Given the description of an element on the screen output the (x, y) to click on. 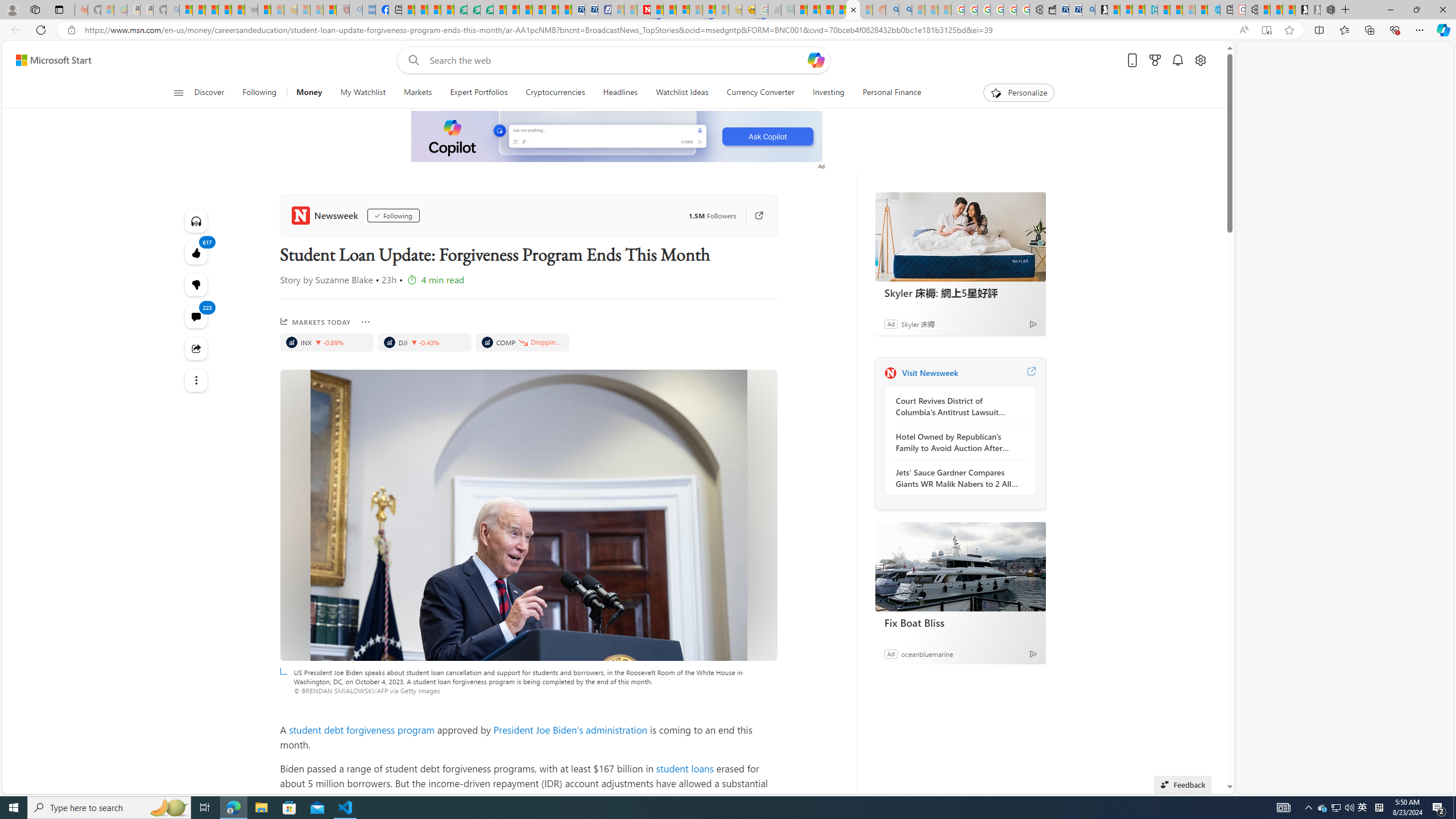
Cheap Hotels - Save70.com (590, 9)
617 Like (196, 252)
Microsoft Start Gaming (1101, 9)
Class: at-item (196, 380)
Investing (828, 92)
Cryptocurrencies (555, 92)
Dislike (196, 284)
Utah sues federal government - Search (905, 9)
